Given the description of an element on the screen output the (x, y) to click on. 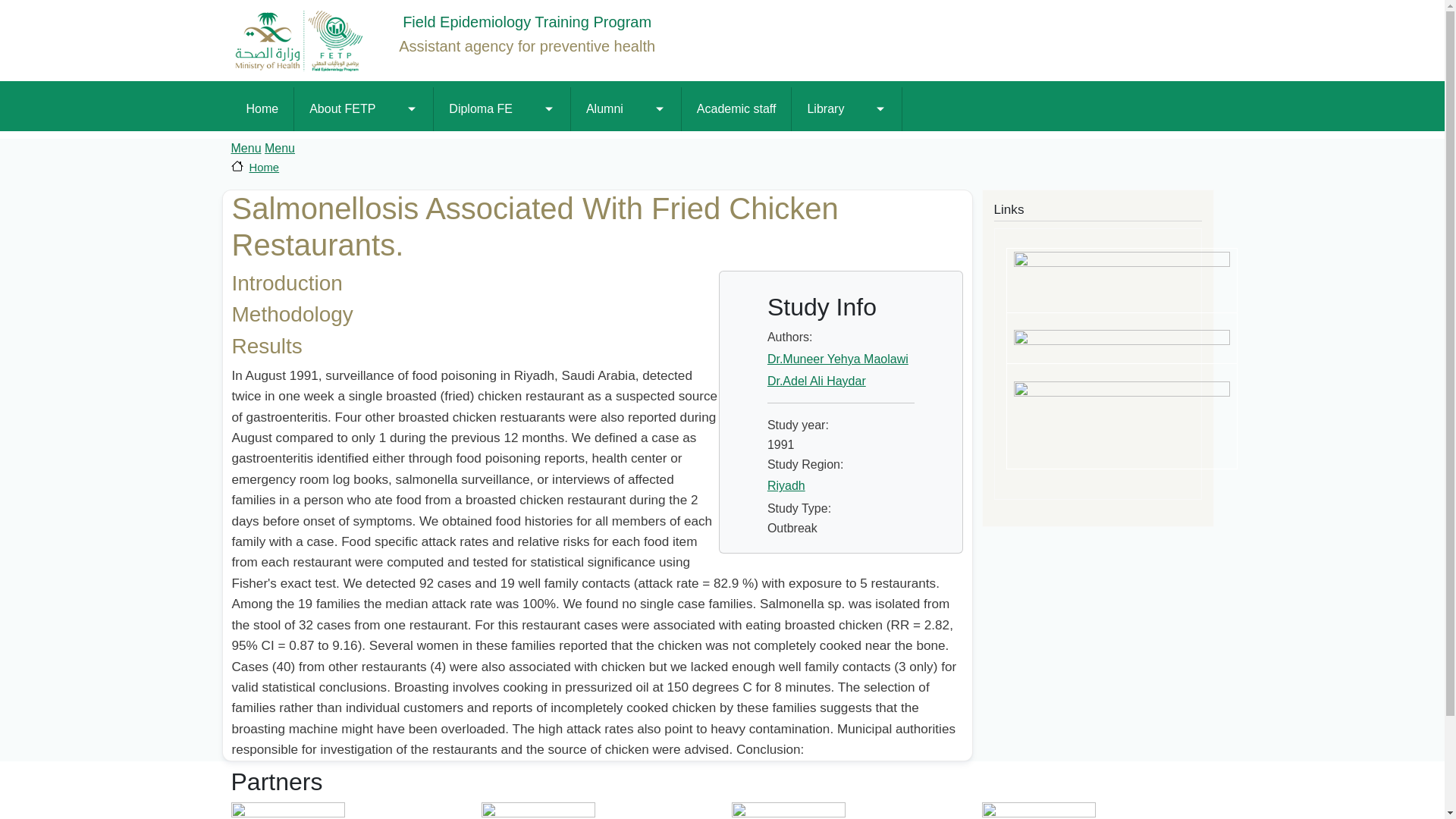
Toggle submenu (411, 108)
Home (449, 40)
Home (262, 108)
Toggle submenu (548, 108)
